Given the description of an element on the screen output the (x, y) to click on. 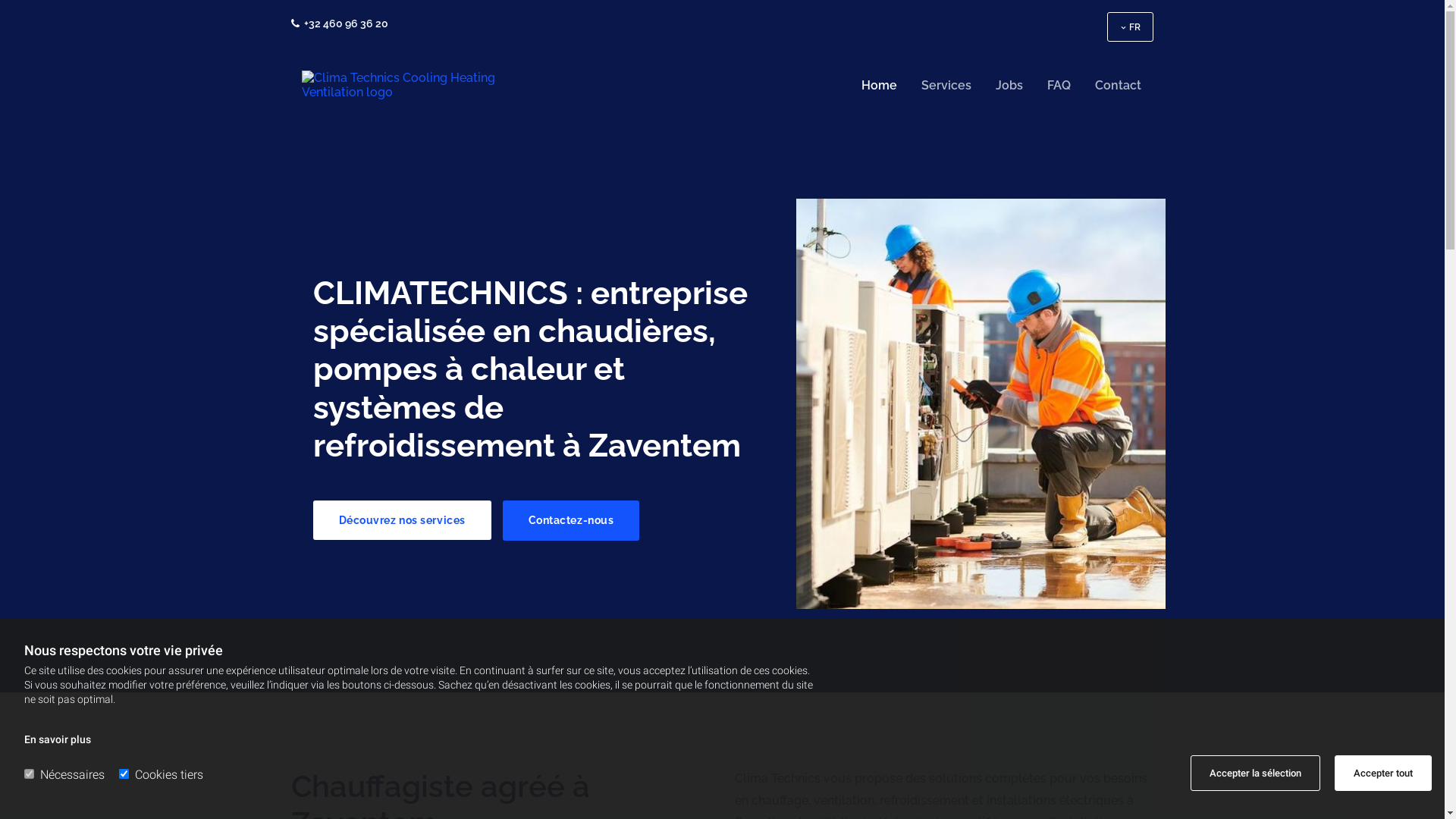
Contactez-nous Element type: text (570, 520)
Jobs Element type: text (1009, 85)
Contact Element type: text (1117, 85)
FR Element type: text (1130, 26)
Accepter tout Element type: text (1382, 772)
FAQ Element type: text (1058, 85)
+32 460 96 36 20 Element type: text (345, 23)
Services Element type: text (946, 85)
Home Element type: text (879, 85)
En savoir plus Element type: text (57, 739)
